Given the description of an element on the screen output the (x, y) to click on. 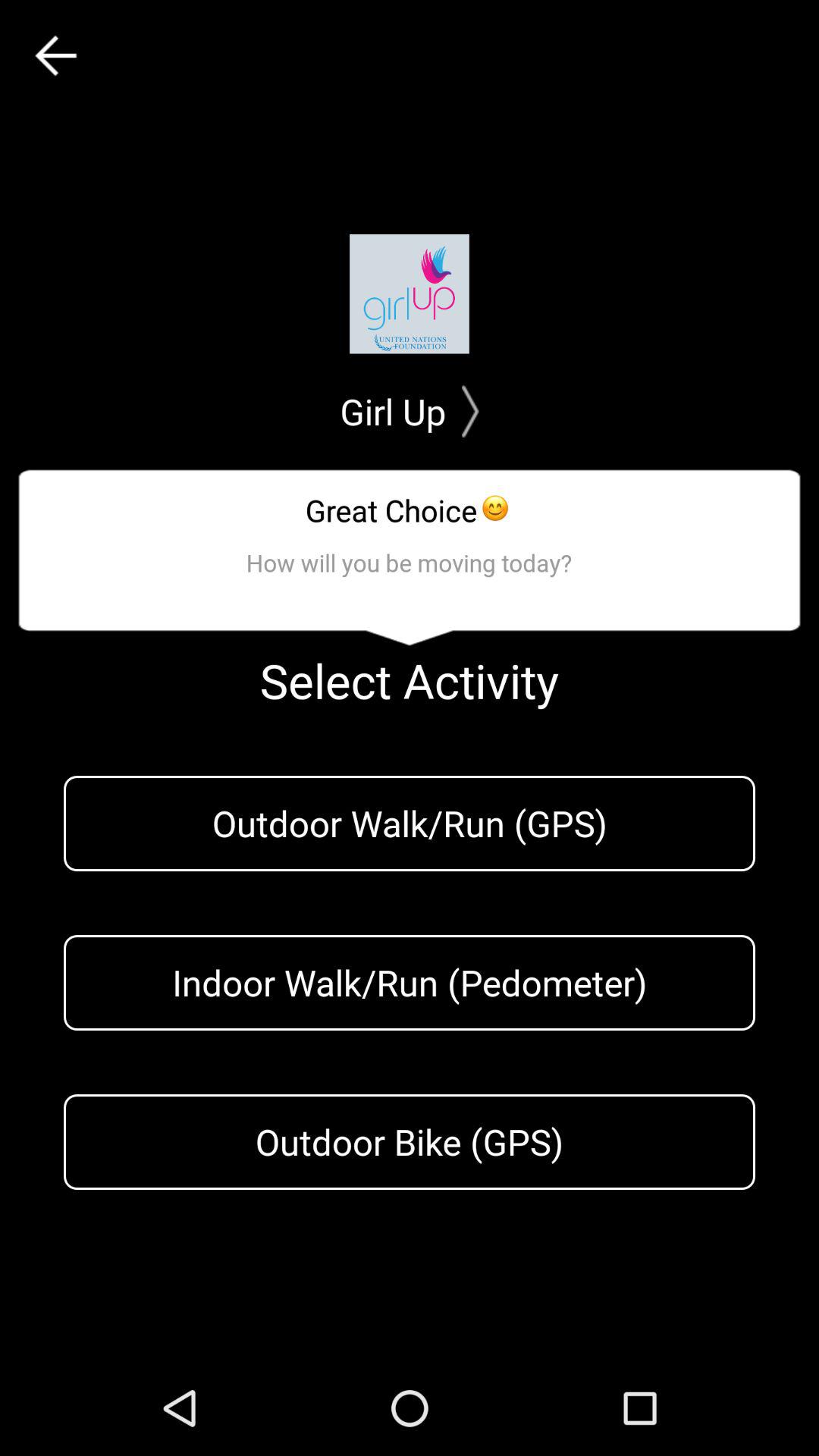
go to previous bar (55, 55)
